Given the description of an element on the screen output the (x, y) to click on. 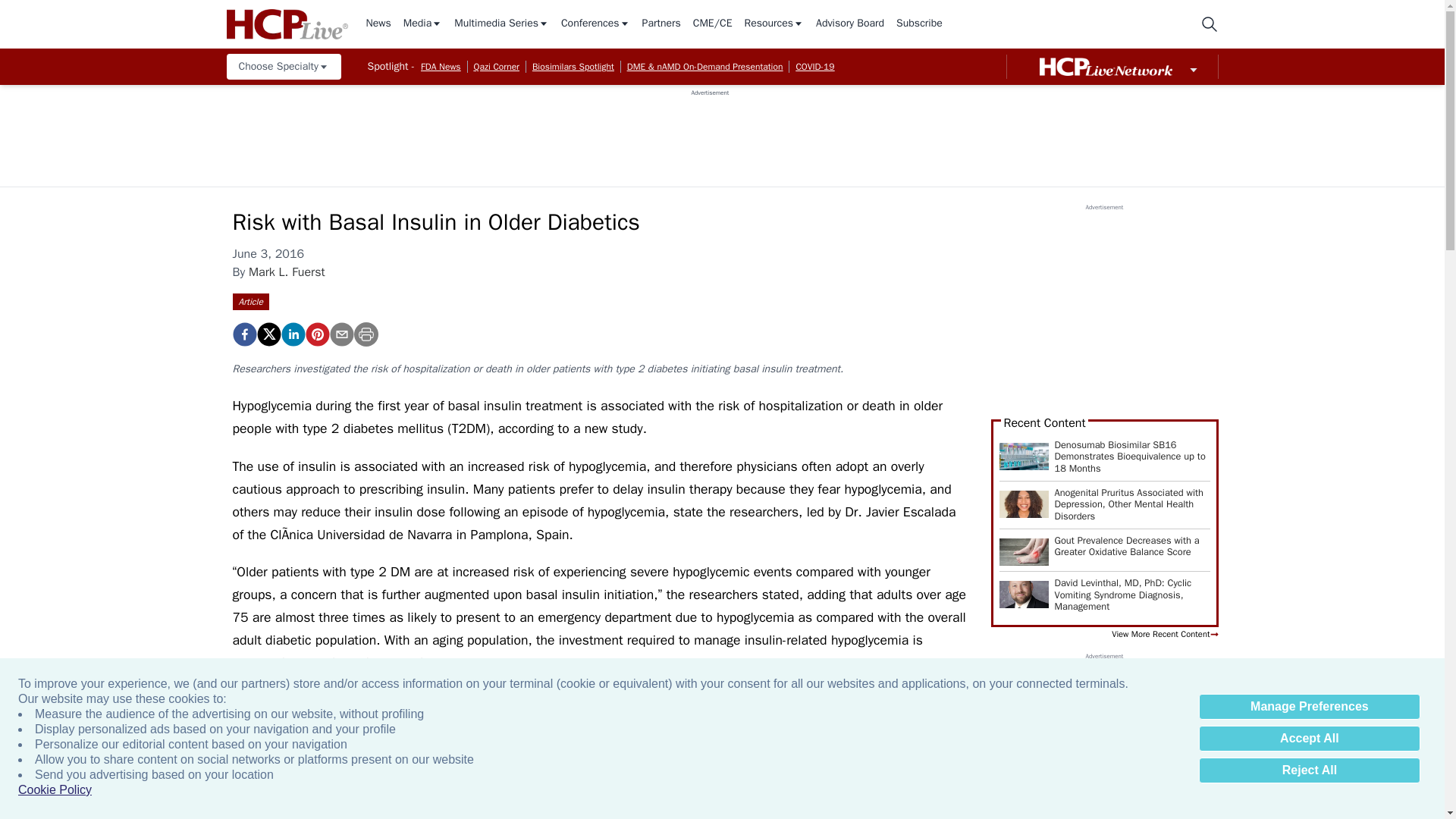
Resources (773, 23)
Manage Preferences (1309, 706)
Cookie Policy (54, 789)
Accept All (1309, 738)
Risk with Basal Insulin in Older Diabetics (243, 334)
Partners (661, 23)
Advisory Board (849, 23)
Reject All (1309, 769)
Conferences (595, 23)
Multimedia Series (501, 23)
Media (422, 23)
3rd party ad content (709, 131)
News (377, 23)
